Given the description of an element on the screen output the (x, y) to click on. 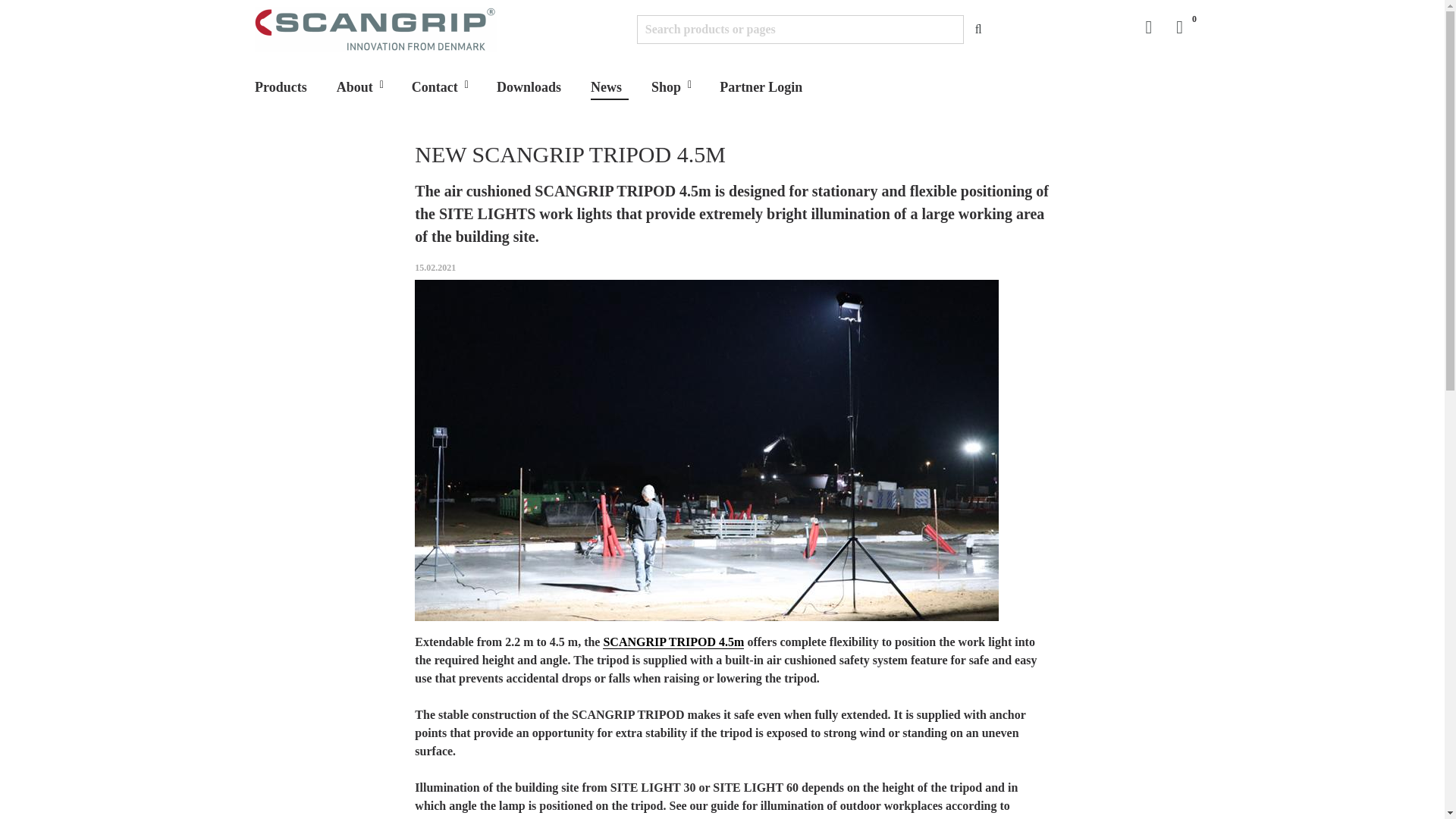
Shop (668, 84)
Contact (438, 84)
Products (284, 84)
About (358, 84)
Downloads (531, 84)
News (609, 83)
